Given the description of an element on the screen output the (x, y) to click on. 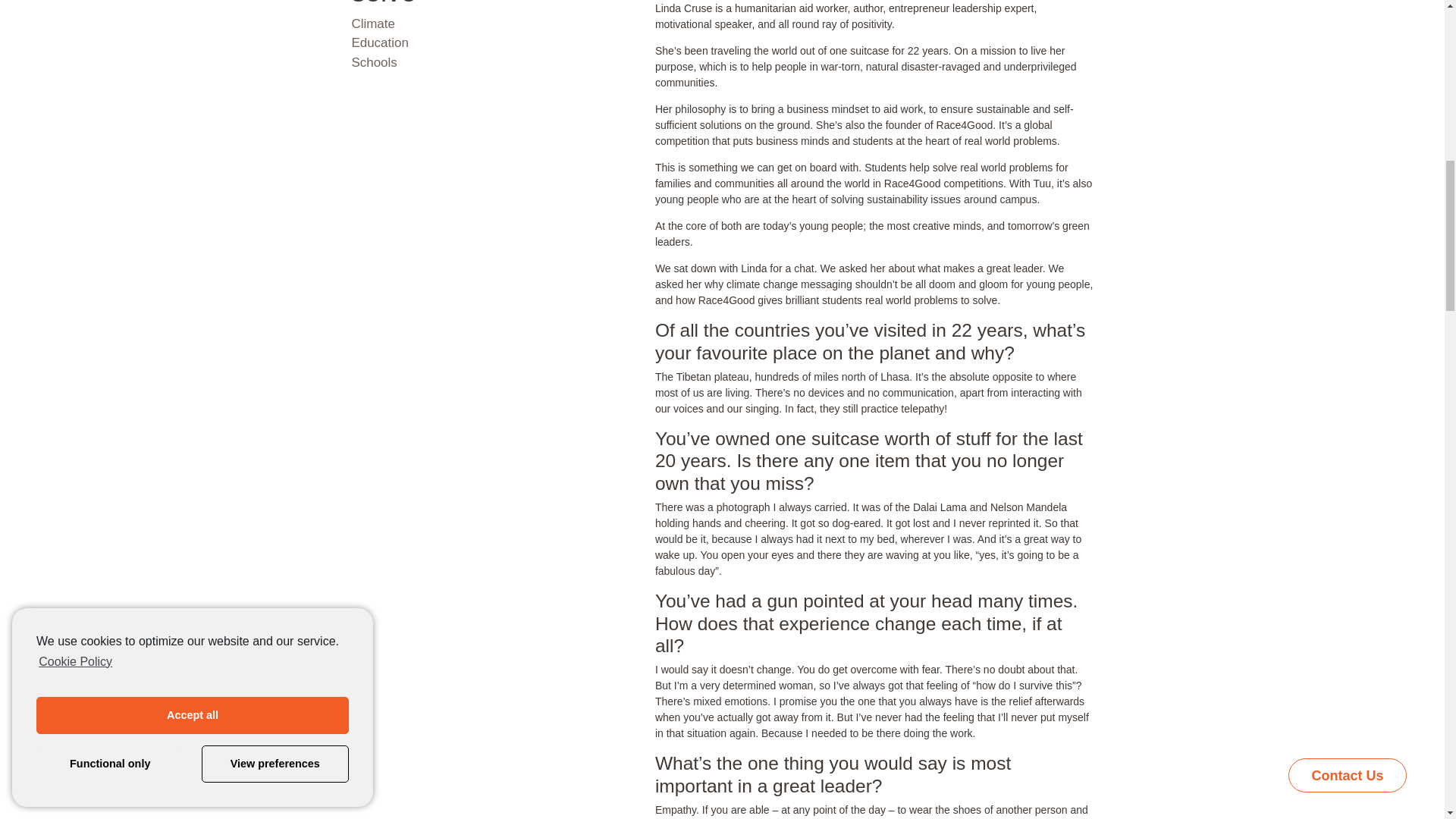
Education (379, 56)
Schools (373, 74)
Climate (372, 38)
